Given the description of an element on the screen output the (x, y) to click on. 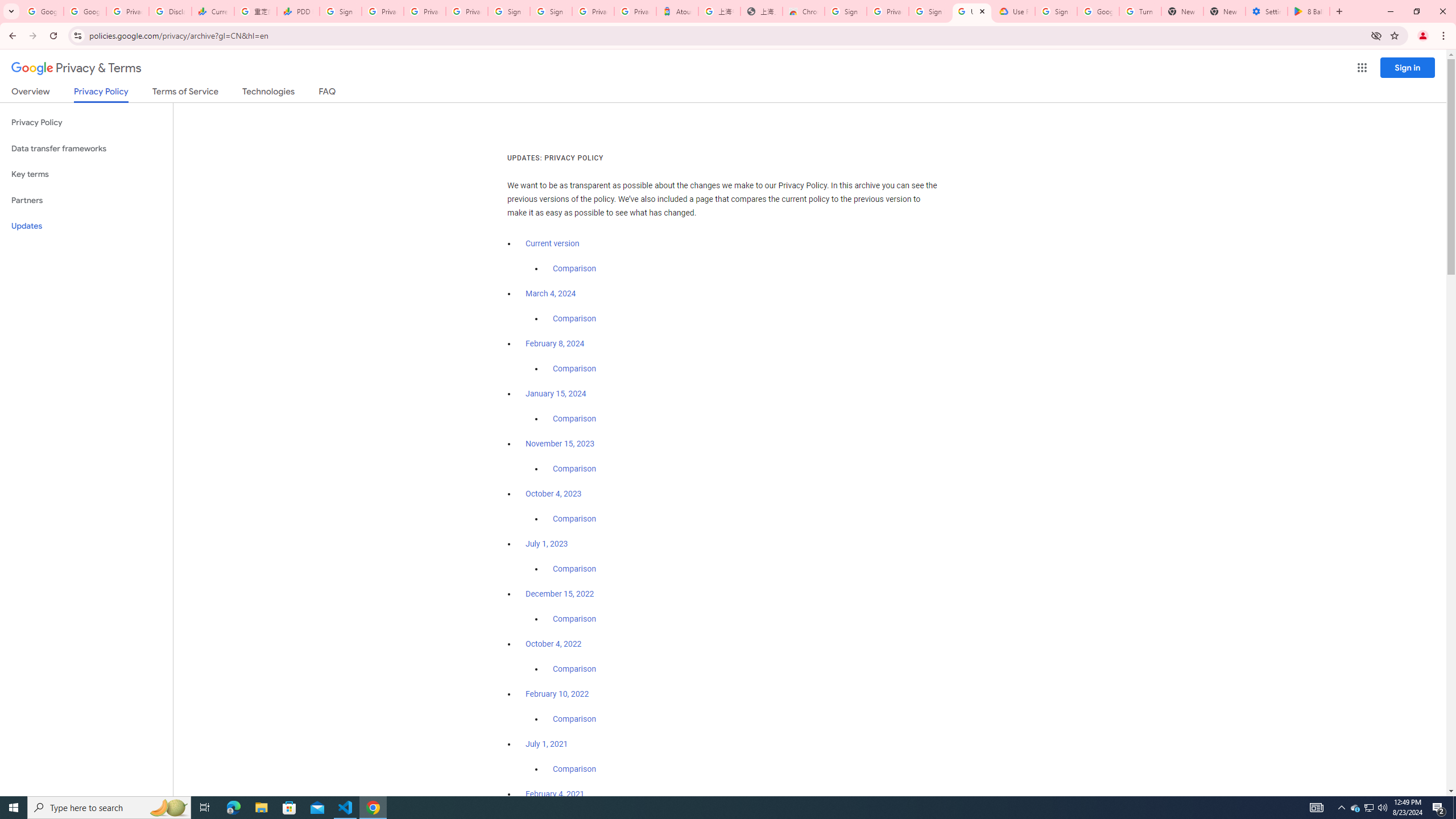
Sign in - Google Accounts (845, 11)
February 8, 2024 (555, 343)
July 1, 2023 (546, 543)
Comparison (574, 768)
Current version (552, 243)
Sign in - Google Accounts (340, 11)
New Tab (1224, 11)
